Given the description of an element on the screen output the (x, y) to click on. 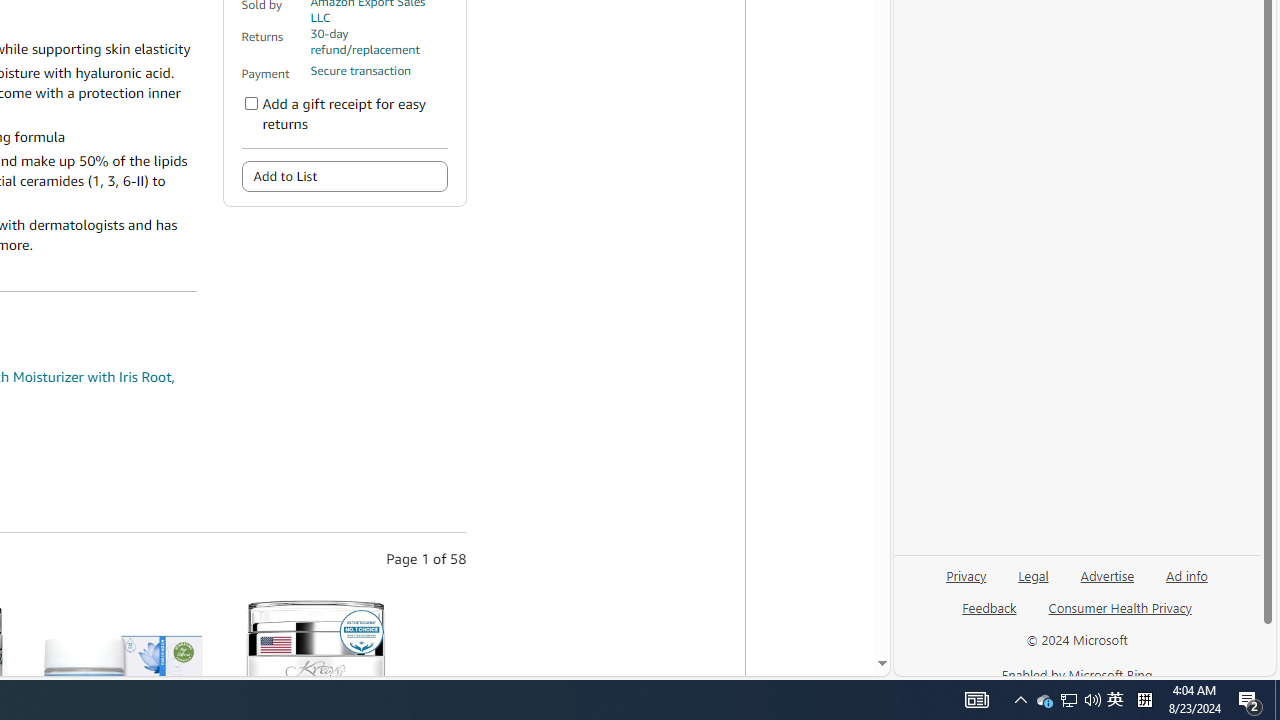
Consumer Health Privacy (1119, 607)
